Given the description of an element on the screen output the (x, y) to click on. 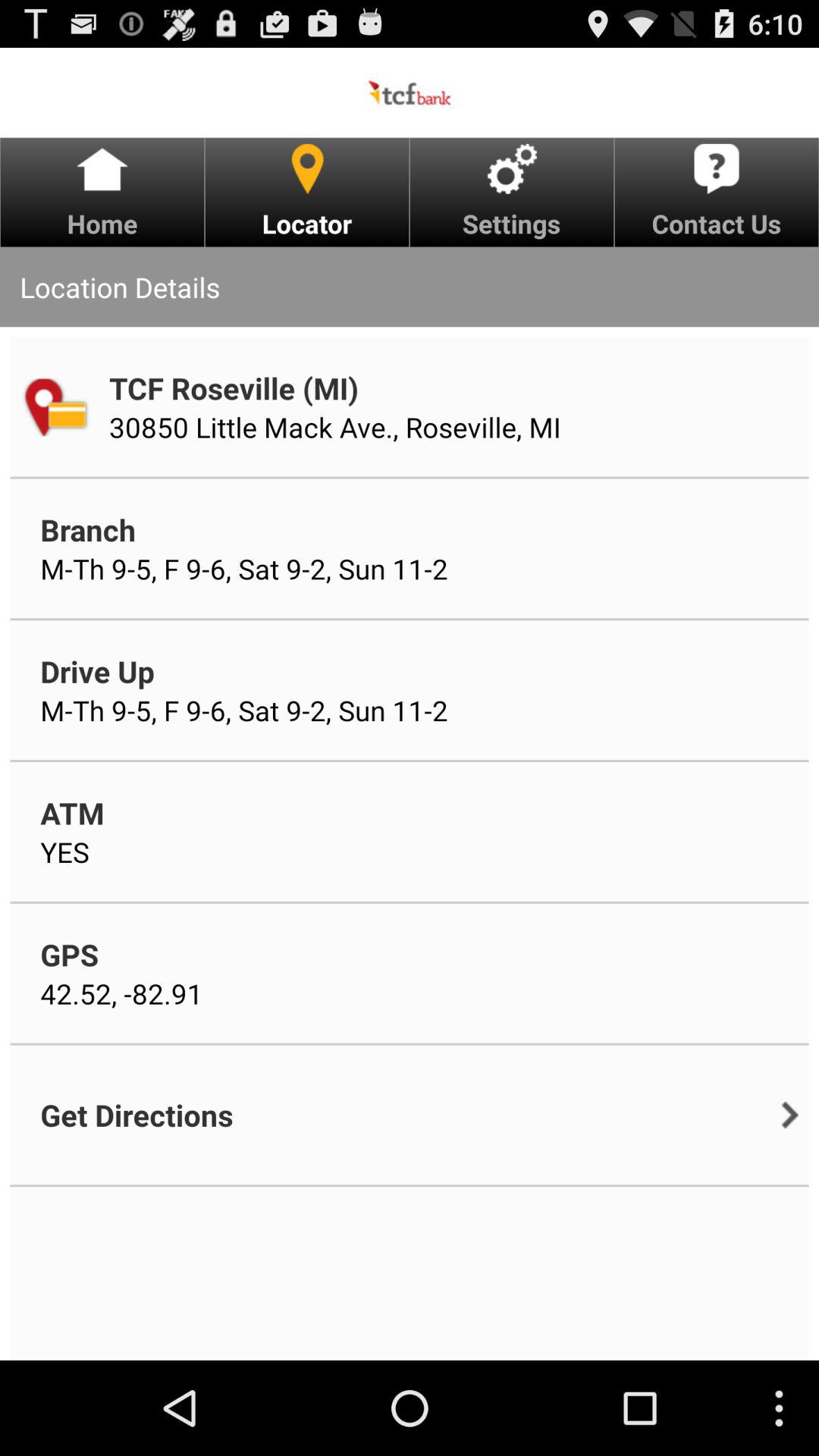
press icon above get directions icon (121, 993)
